Given the description of an element on the screen output the (x, y) to click on. 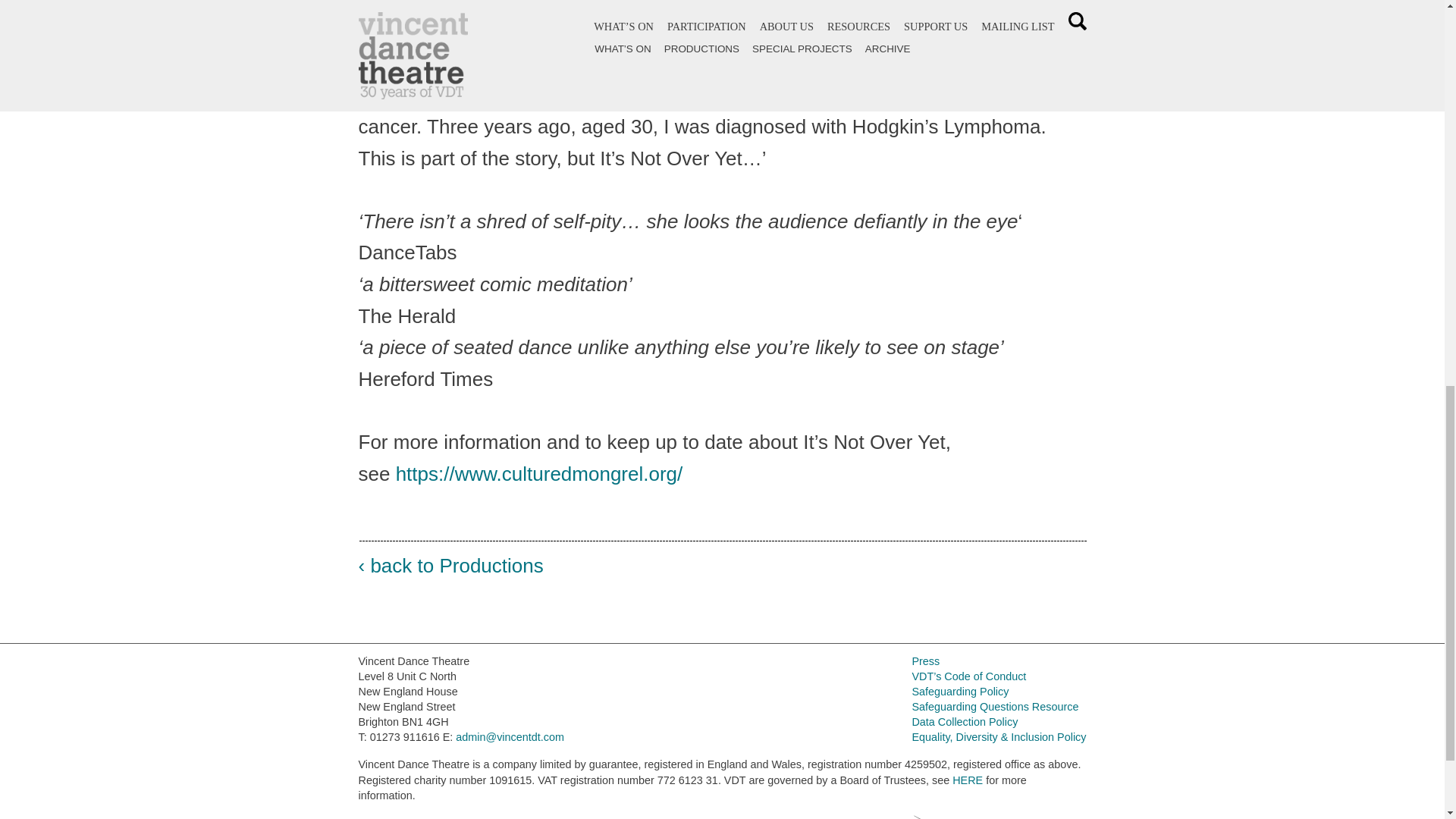
Safeguarding Questions Resource (994, 706)
Press (925, 661)
Data Collection Policy (964, 721)
HERE (967, 779)
Safeguarding Policy (960, 691)
